Given the description of an element on the screen output the (x, y) to click on. 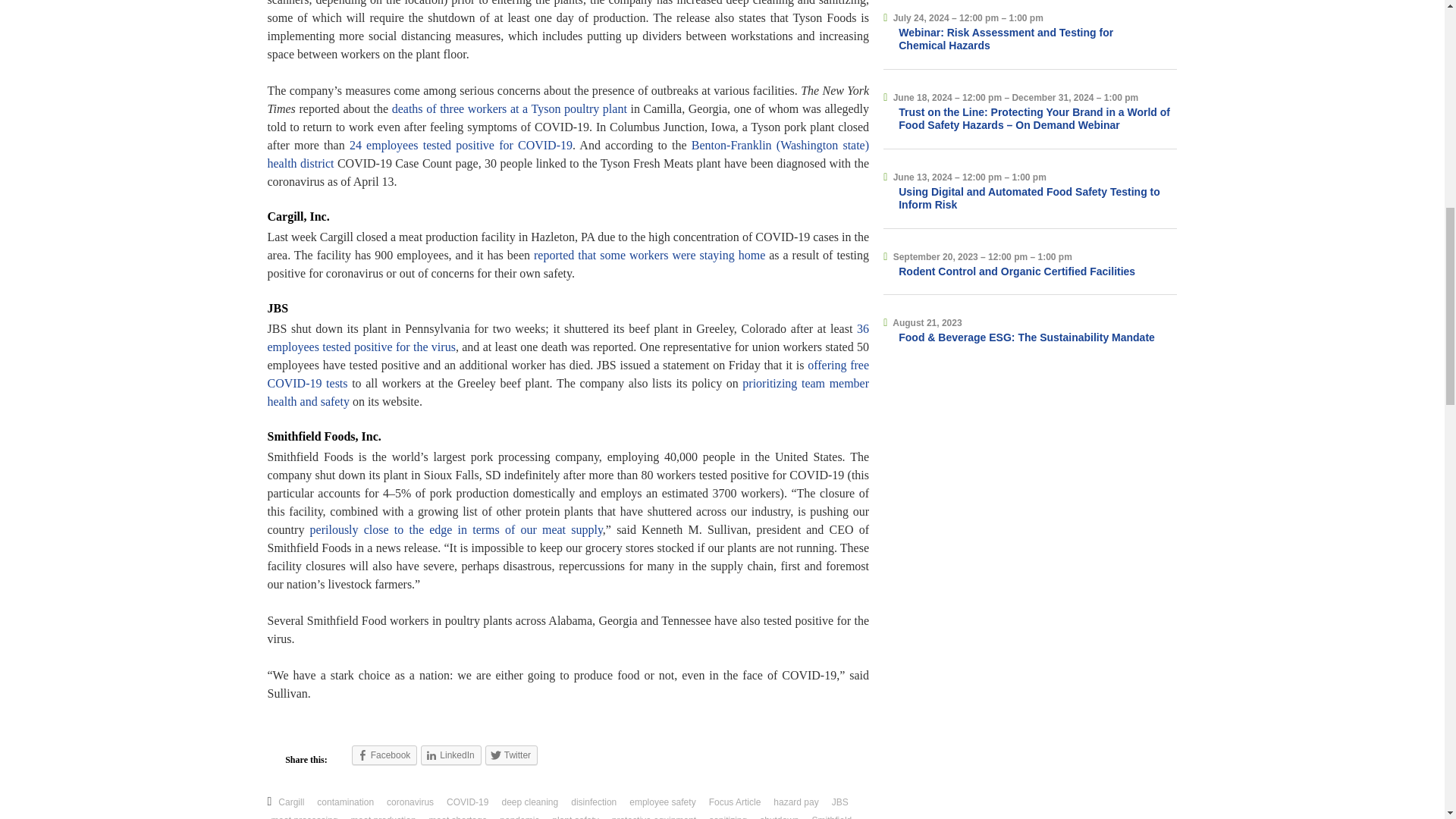
Click to share on Facebook (384, 754)
Click to share on LinkedIn (450, 754)
Click to share on Twitter (510, 754)
